Given the description of an element on the screen output the (x, y) to click on. 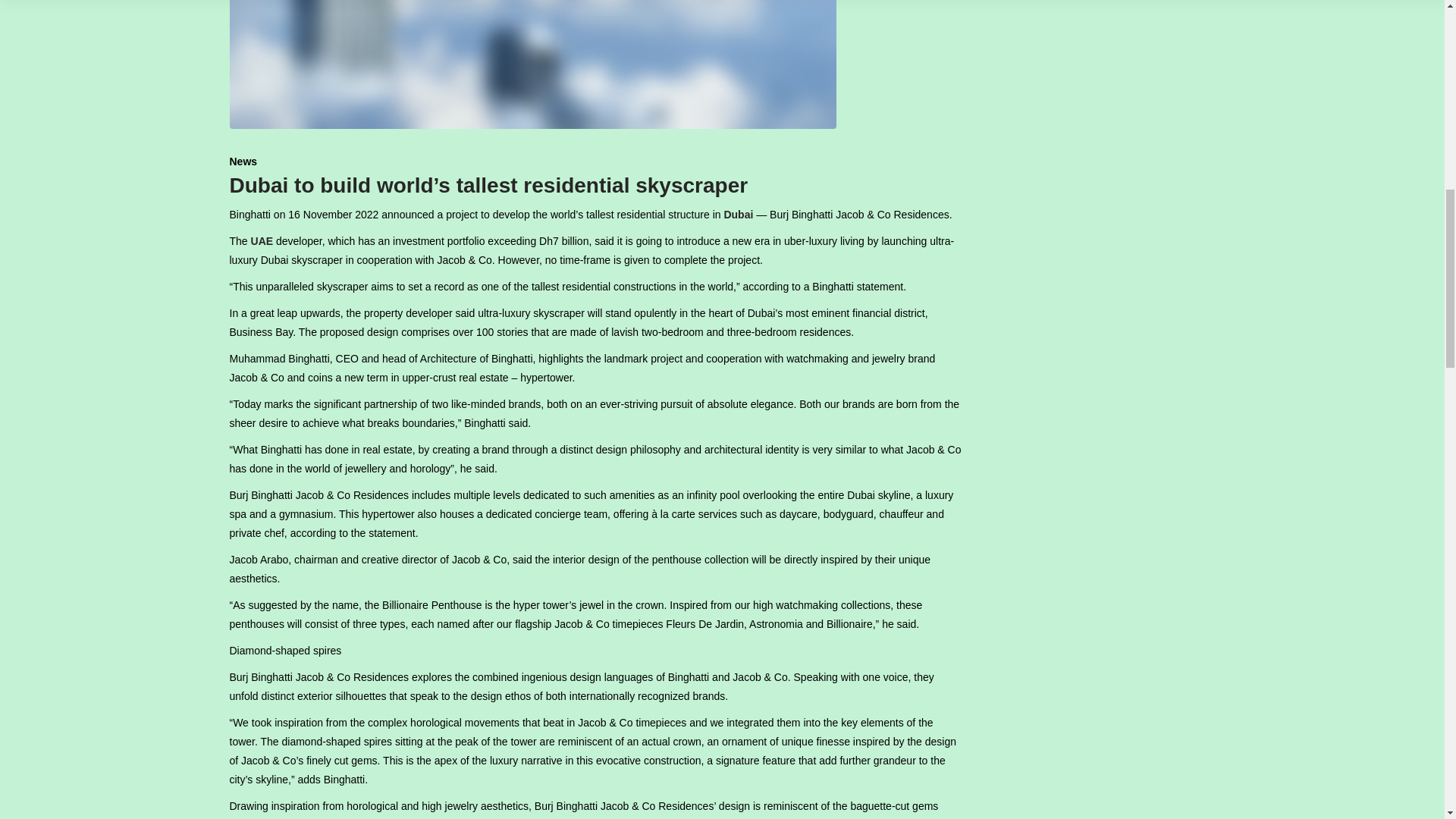
News (242, 161)
UAE (261, 241)
Dubai (737, 214)
